Given the description of an element on the screen output the (x, y) to click on. 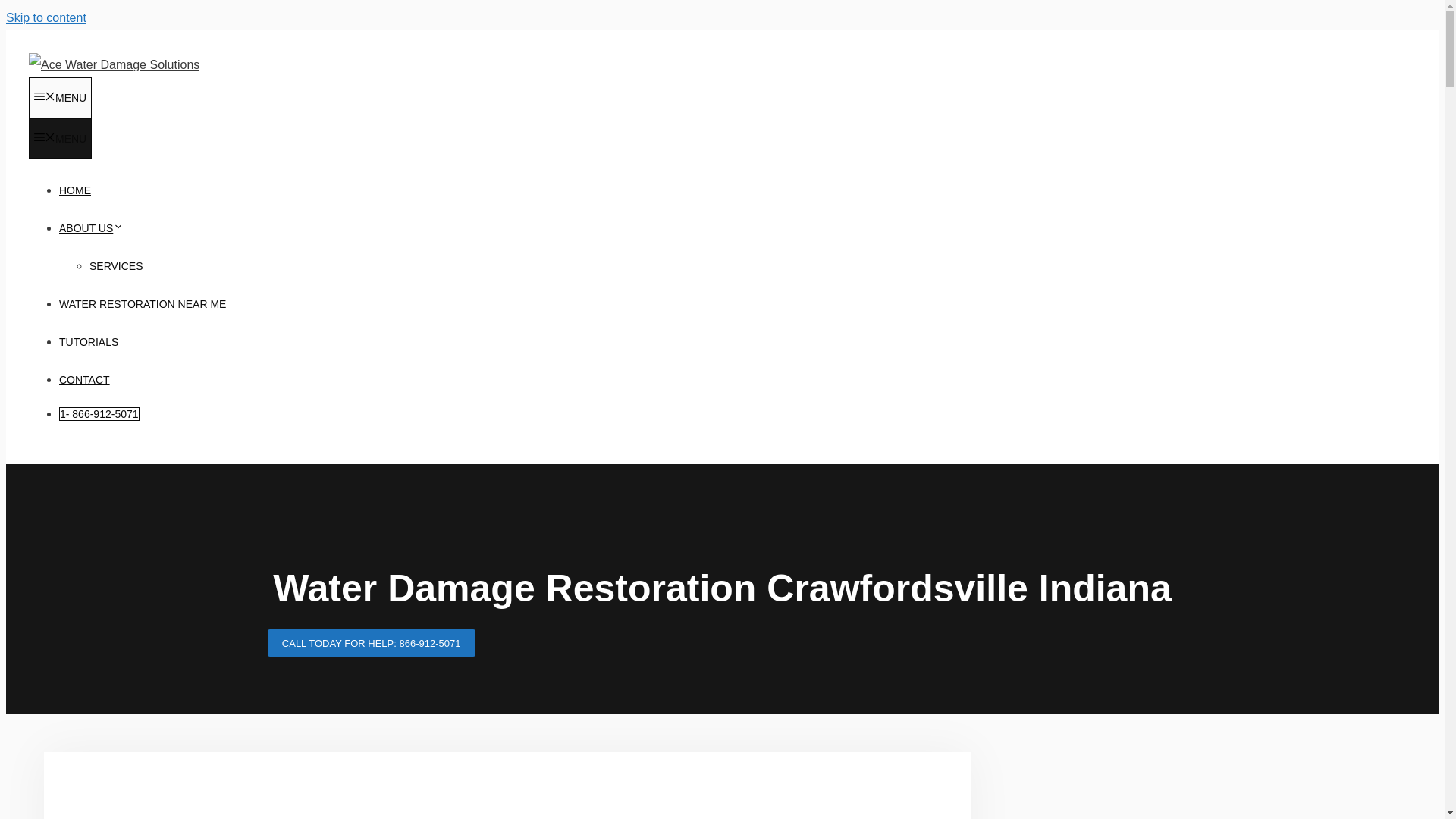
SERVICES (115, 265)
Skip to content (45, 17)
HOME (74, 190)
MENU (60, 96)
WATER RESTORATION NEAR ME (142, 304)
1- 866-912-5071 (99, 413)
TUTORIALS (88, 341)
MENU (60, 137)
CALL TODAY FOR HELP: 866-912-5071 (370, 642)
CONTACT (84, 379)
Skip to content (45, 17)
ABOUT US (91, 227)
